Given the description of an element on the screen output the (x, y) to click on. 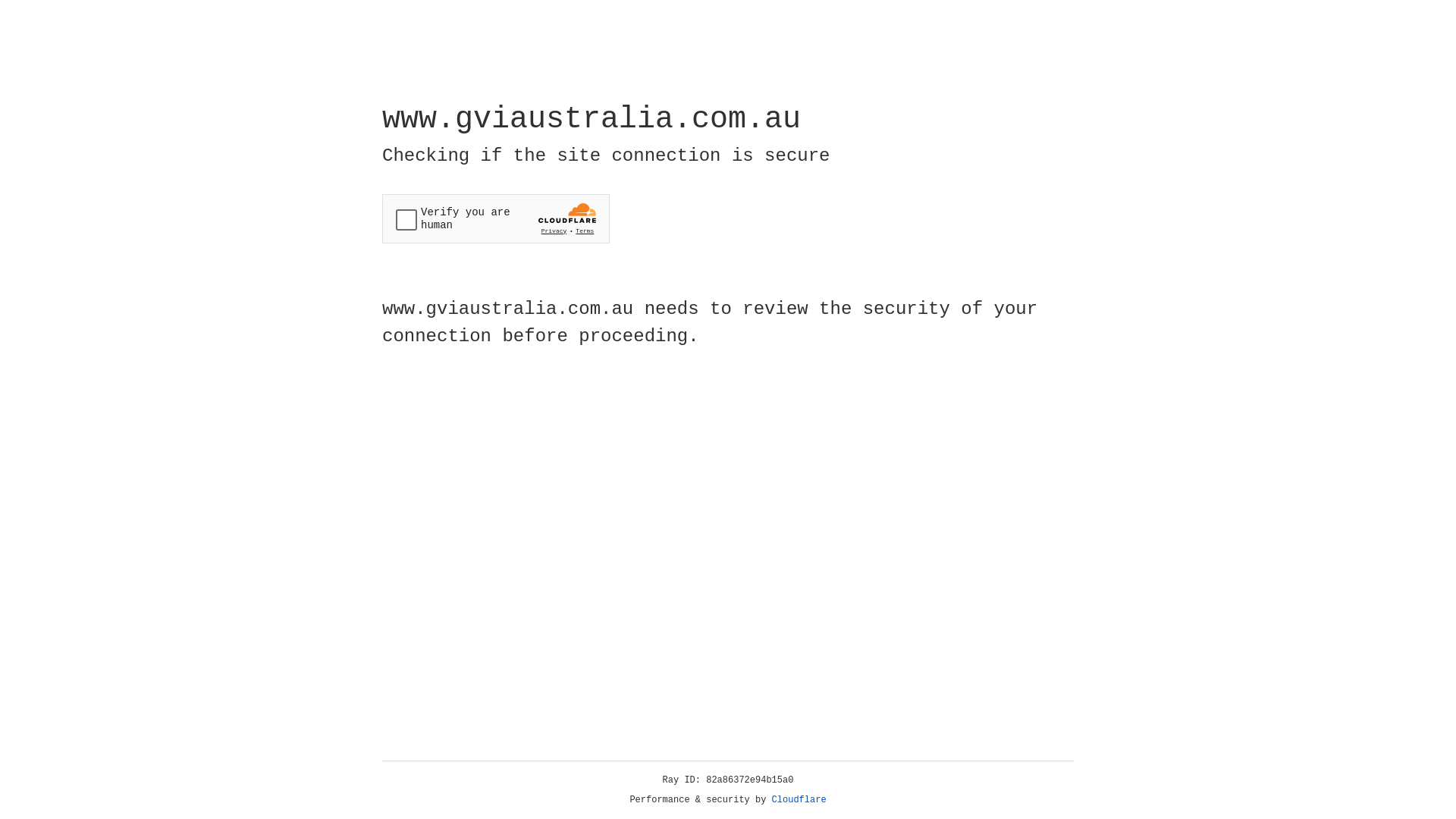
Widget containing a Cloudflare security challenge Element type: hover (495, 218)
Cloudflare Element type: text (798, 799)
